Given the description of an element on the screen output the (x, y) to click on. 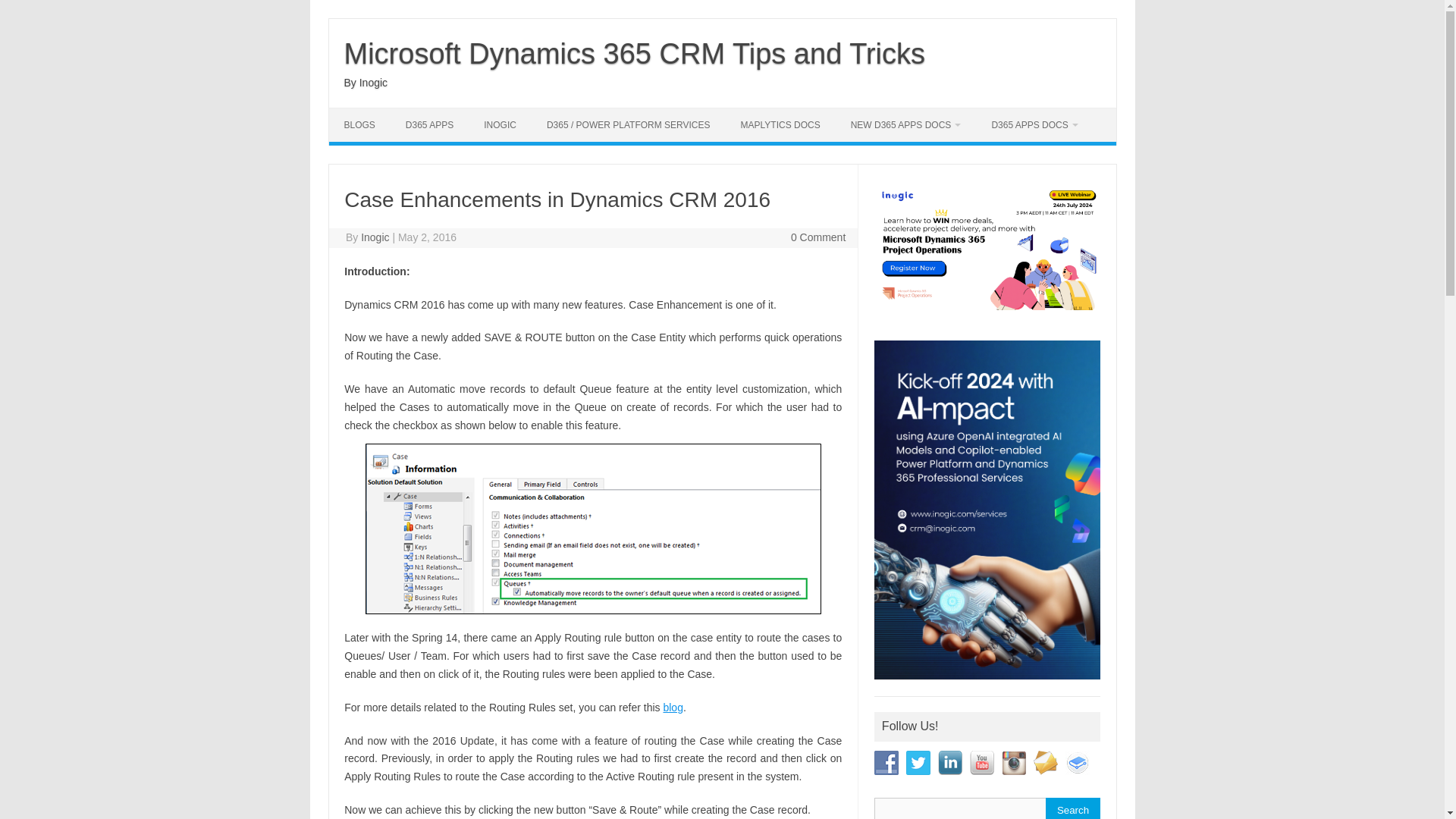
Follow Us on Instagram (1013, 762)
Follow Us on YouTube (981, 762)
Inogic (374, 236)
D365 APPS (429, 124)
Follow Us on Docs (1077, 762)
MAPLYTICS DOCS (780, 124)
Search (1072, 808)
Follow Us on Twitter (917, 762)
D365 APPS DOCS (1034, 124)
NEW D365 APPS DOCS (905, 124)
Follow Us on E-mail (1045, 762)
Follow Us on Facebook (886, 762)
Follow Us on LinkedIn (949, 762)
